Given the description of an element on the screen output the (x, y) to click on. 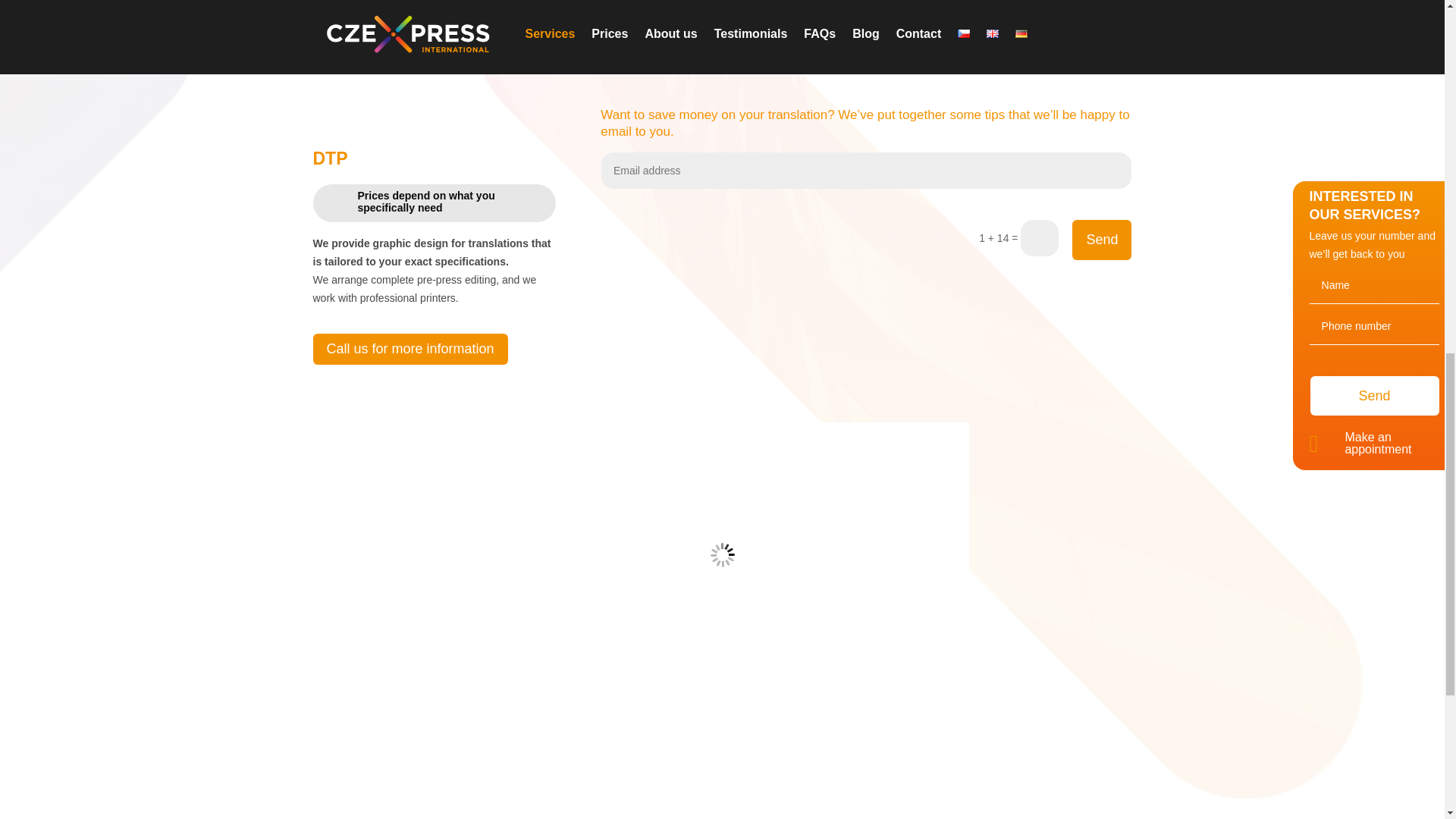
Call us for more information (409, 348)
I need a quote within 60 minutes (424, 34)
I would like you to contact me (991, 47)
I would like a free consultation (704, 45)
Send (1101, 240)
